Given the description of an element on the screen output the (x, y) to click on. 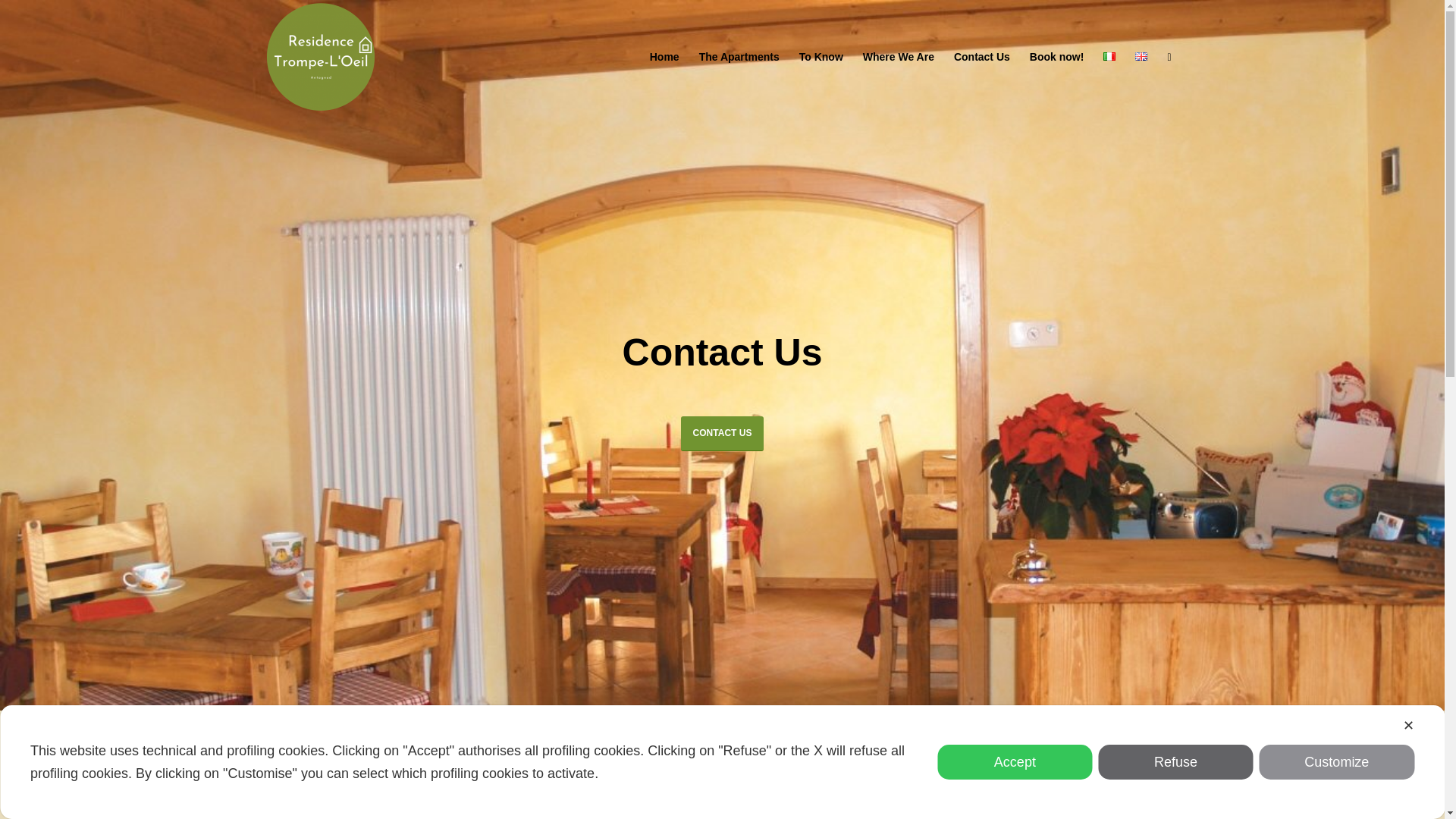
Accept (1014, 761)
Invia (53, 18)
Refuse (1174, 761)
Customize (1336, 761)
